Given the description of an element on the screen output the (x, y) to click on. 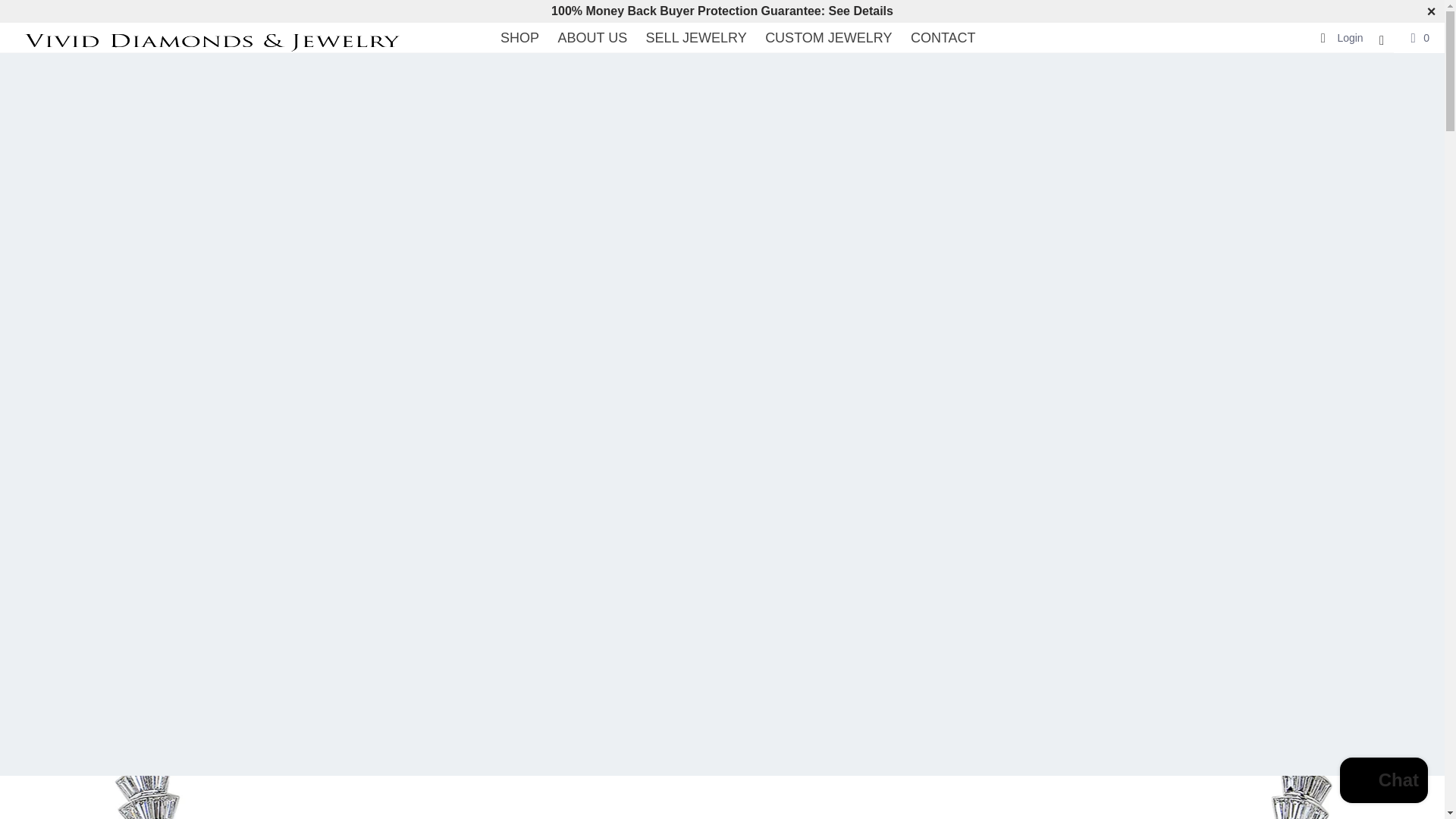
SELL JEWELRY (696, 37)
ABOUT US (592, 37)
My Account  (1340, 37)
CONTACT (943, 37)
CUSTOM JEWELRY (828, 37)
Return Policy (722, 10)
Login (1340, 37)
SHOP (519, 37)
